Given the description of an element on the screen output the (x, y) to click on. 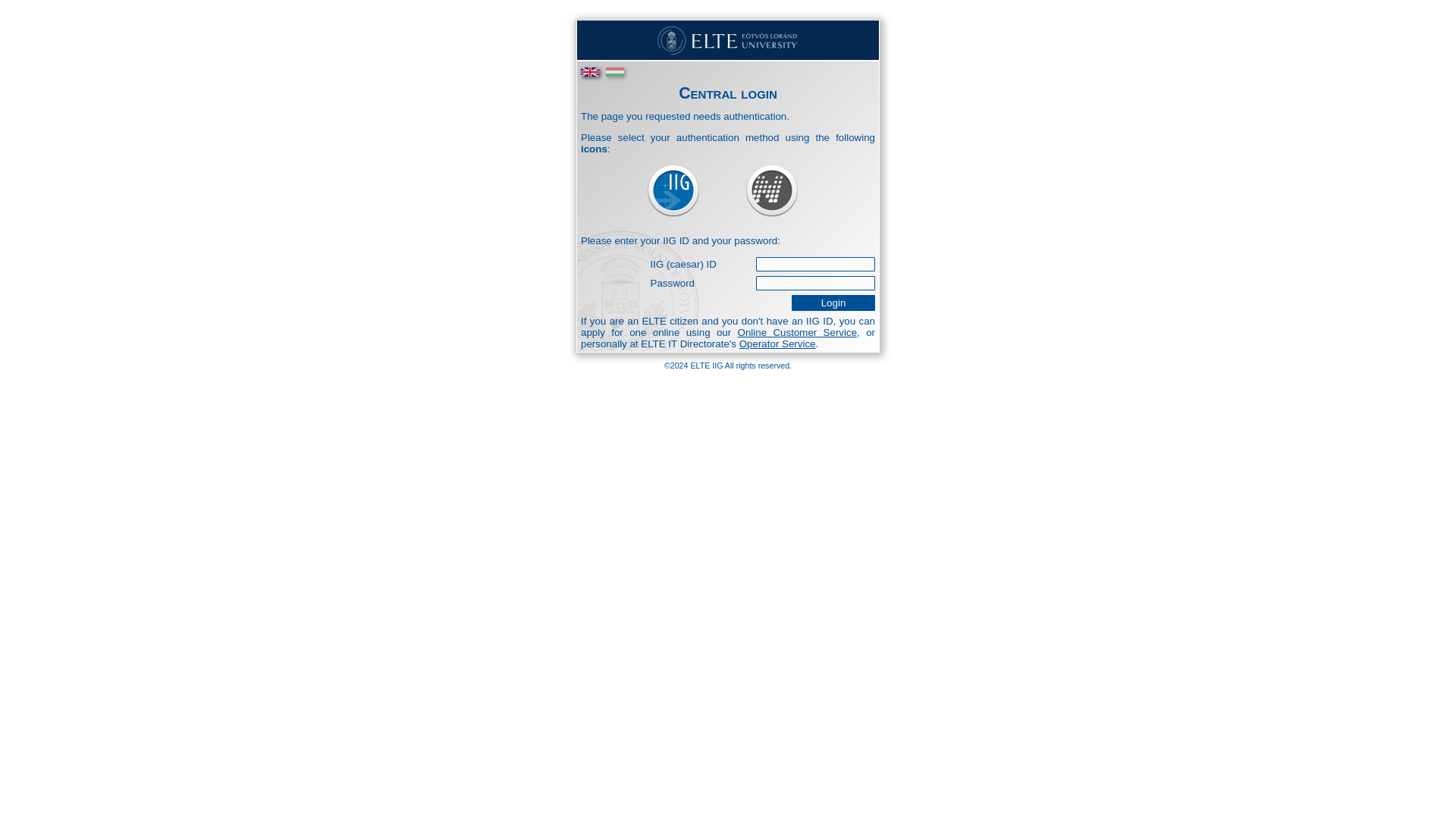
IIG ID (672, 190)
Online Customer Service (797, 332)
Login (833, 302)
Login (833, 302)
Operator Service (777, 343)
Neptun ID (771, 190)
